Given the description of an element on the screen output the (x, y) to click on. 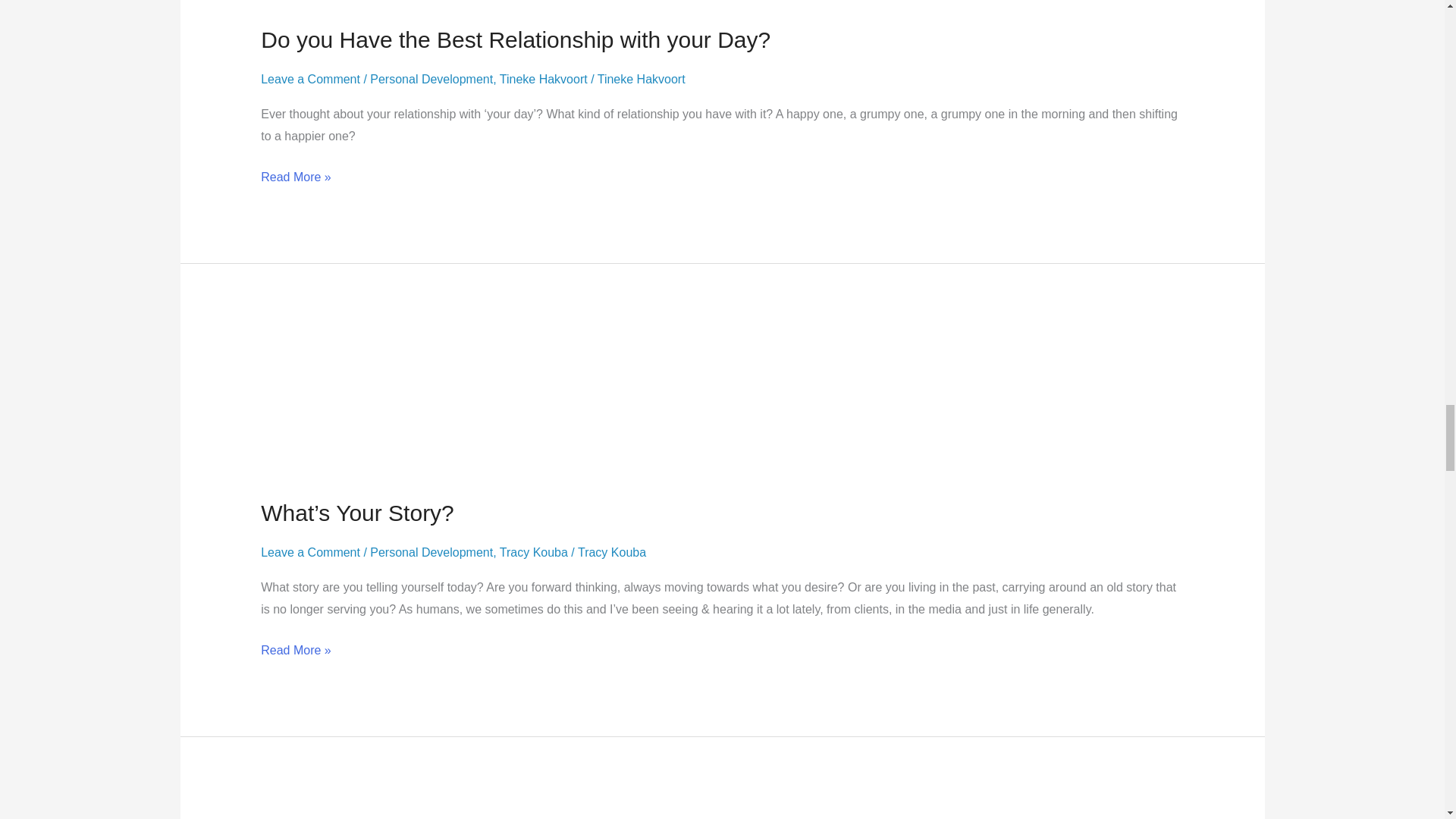
View all posts by Tracy Kouba (612, 552)
Do you Have the Best Relationship with your Day? (515, 39)
View all posts by Tineke Hakvoort (640, 78)
Tineke Hakvoort (543, 78)
Personal Development (431, 78)
Leave a Comment (309, 78)
